Given the description of an element on the screen output the (x, y) to click on. 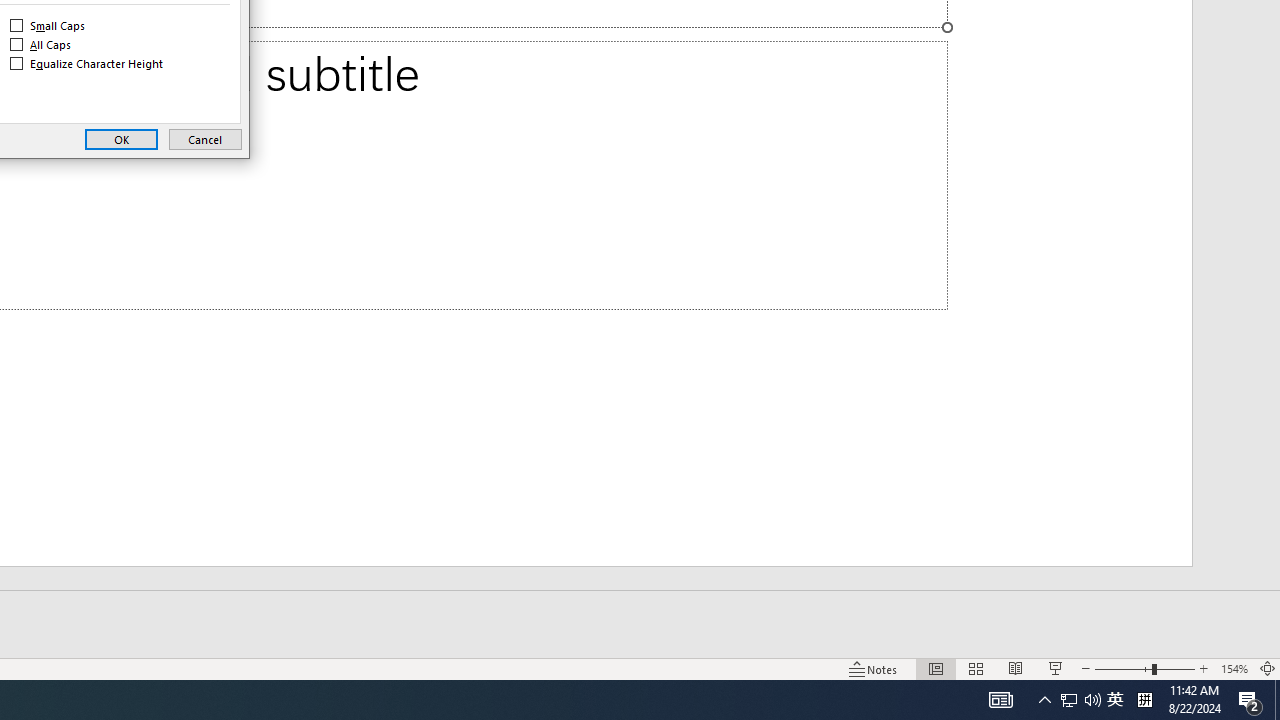
Equalize Character Height (87, 64)
OK (121, 139)
Zoom 154% (1234, 668)
